Given the description of an element on the screen output the (x, y) to click on. 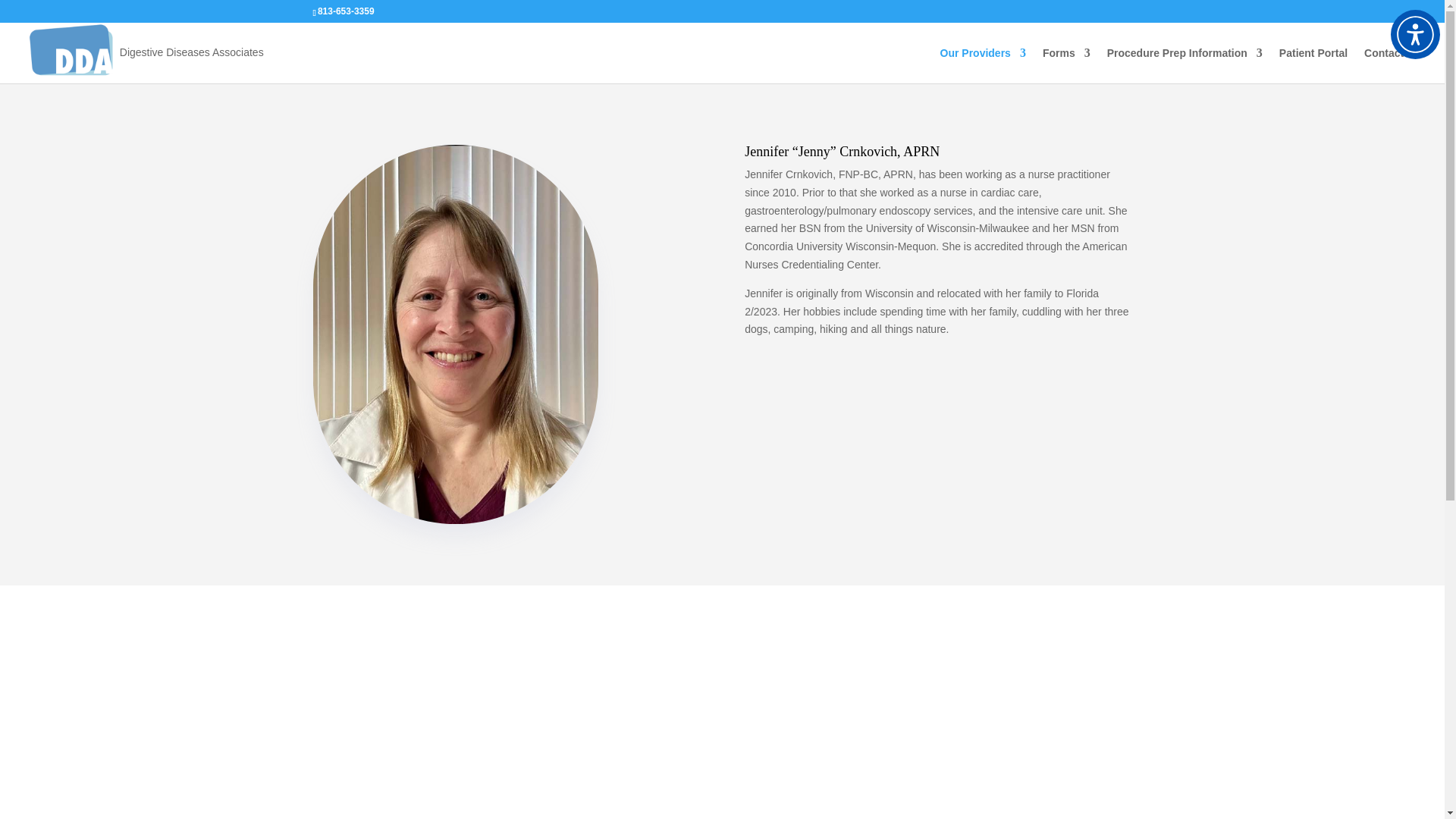
Procedure Prep Information (1184, 65)
Patient Portal (1313, 65)
Contact Us (1392, 65)
Forms (1066, 65)
813-653-3359 (345, 10)
Our Providers (983, 65)
